Given the description of an element on the screen output the (x, y) to click on. 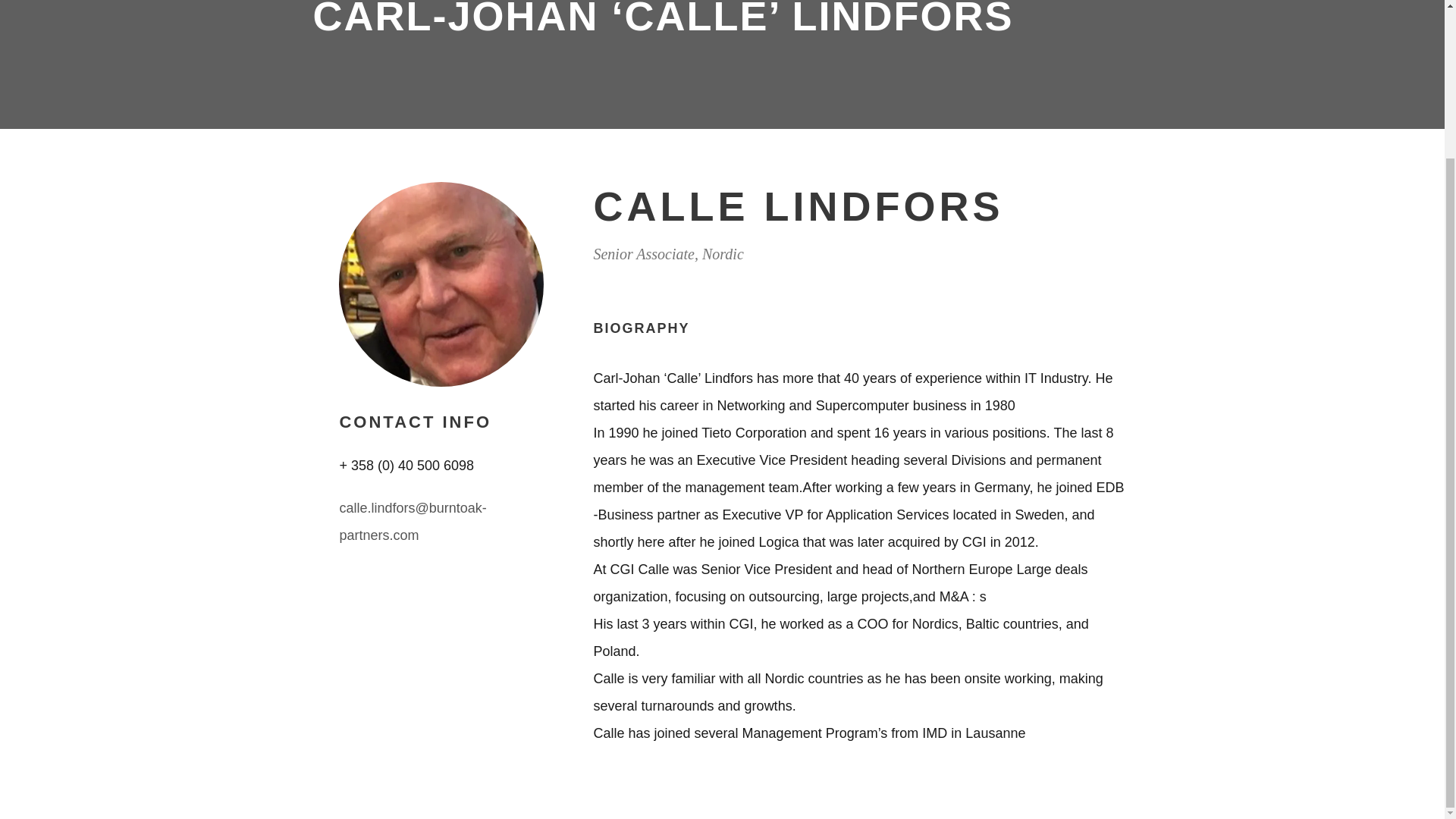
linkedin (769, 483)
PRIVACY POLICY (395, 363)
TERMS AND CONDITIONS (384, 409)
CALLE LINDFORS1x1 (441, 283)
